Given the description of an element on the screen output the (x, y) to click on. 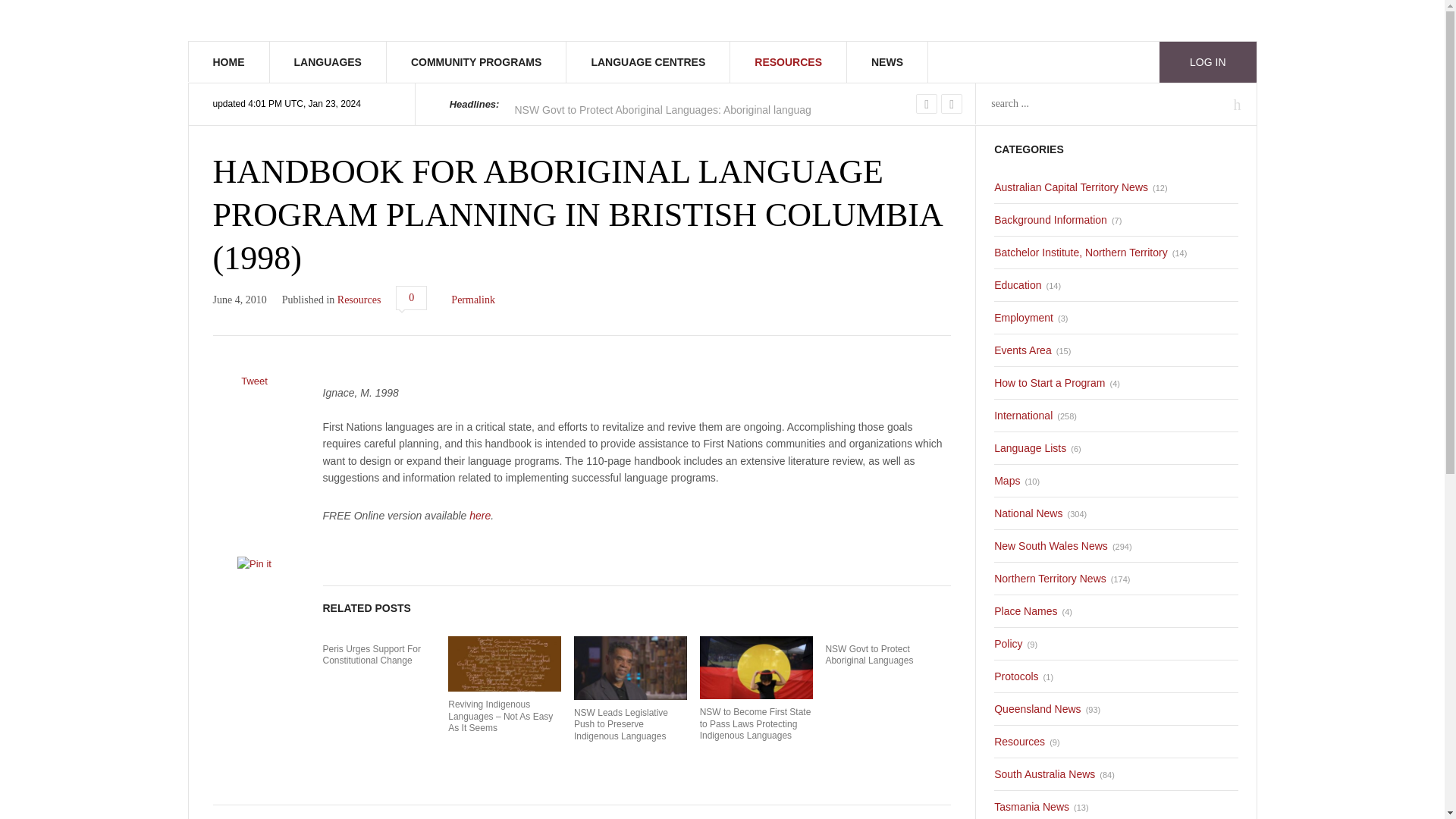
Permalink to NSW Govt to Protect Aboriginal Languages (881, 655)
NSW Govt to Protect Aboriginal Languages (661, 110)
Employment (1023, 317)
HOME (228, 61)
Search (29, 14)
COMMUNITY PROGRAMS (476, 61)
Permalink (473, 299)
NEWS (887, 61)
LANGUAGES (328, 61)
Tweet (253, 381)
Resources (359, 299)
here (479, 515)
Peris Urges Support For Constitutional Change (379, 655)
